Given the description of an element on the screen output the (x, y) to click on. 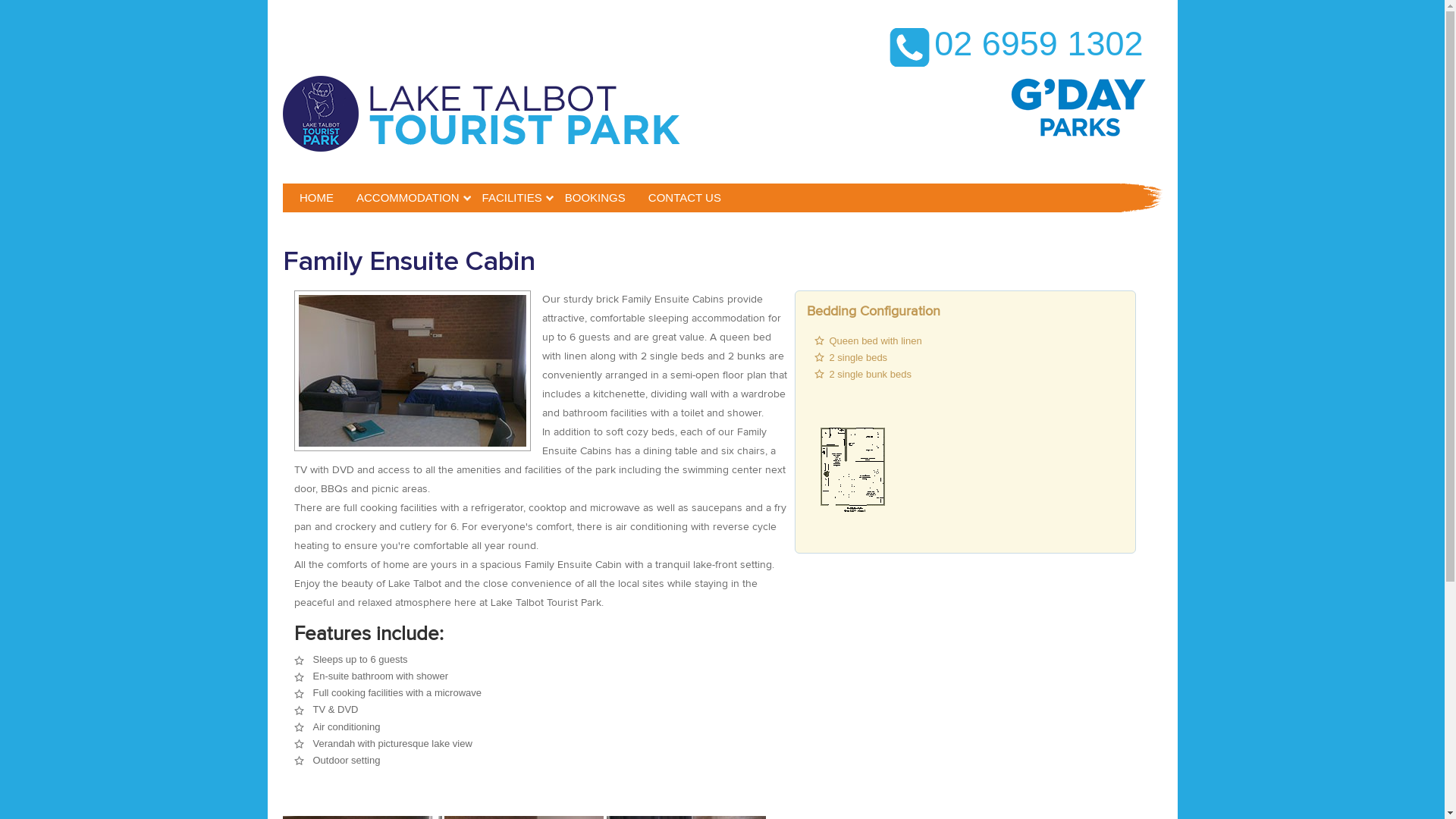
FACILITIES Element type: text (511, 197)
Family Ensuite Cabin Floor Plan Element type: hover (850, 471)
ACCOMMODATION Element type: text (407, 197)
Family Ensuite Cabin Floor Plan Element type: hover (850, 474)
HOME Element type: text (316, 197)
CONTACT US Element type: text (684, 197)
BOOKINGS Element type: text (595, 197)
